Given the description of an element on the screen output the (x, y) to click on. 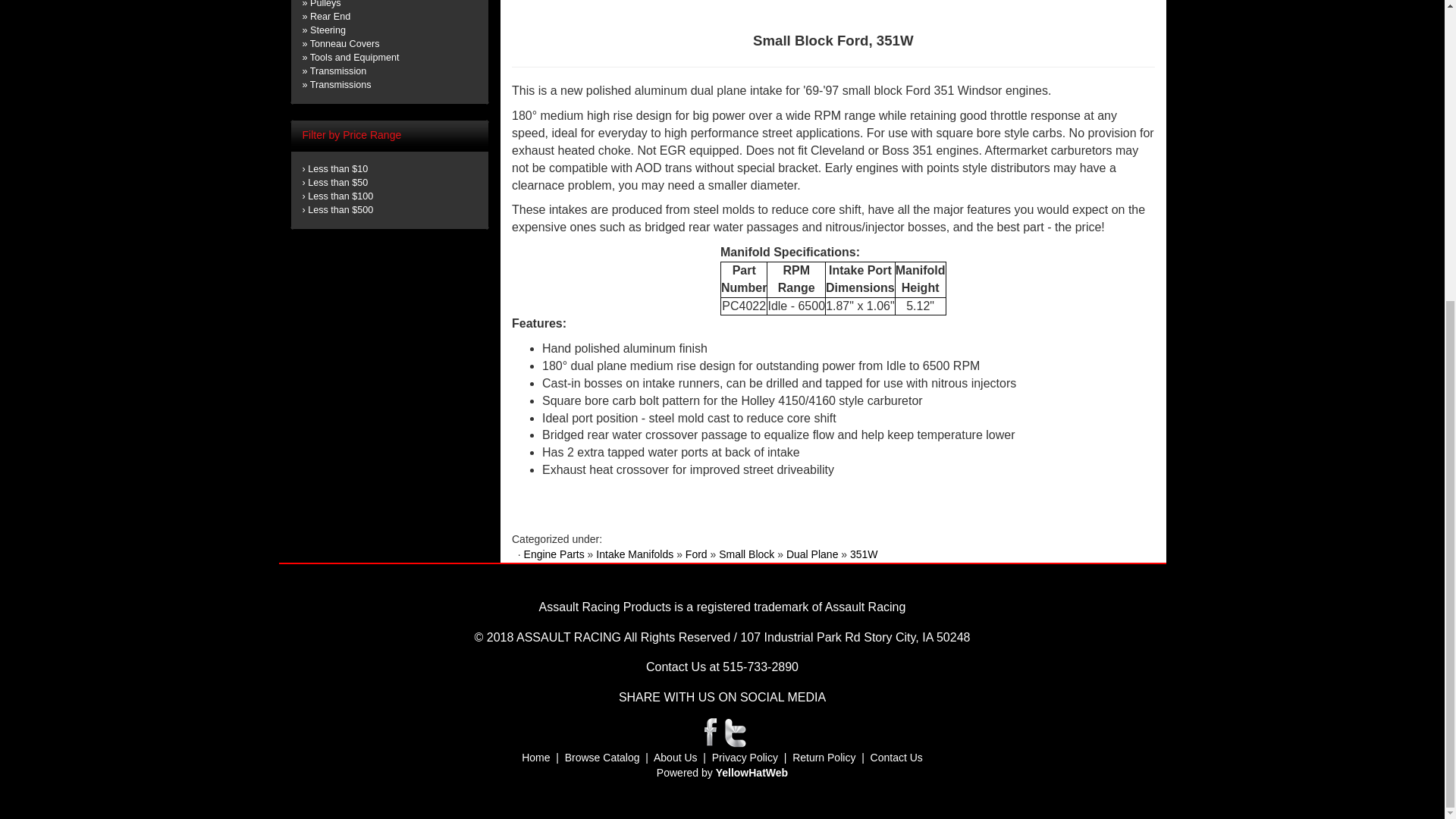
Tools and Equipment (354, 57)
Transmission (338, 71)
Tonneau Covers (345, 43)
Pulleys (325, 4)
Rear End (330, 16)
Steering (328, 30)
Engine Parts (554, 553)
Transmissions (340, 84)
